Given the description of an element on the screen output the (x, y) to click on. 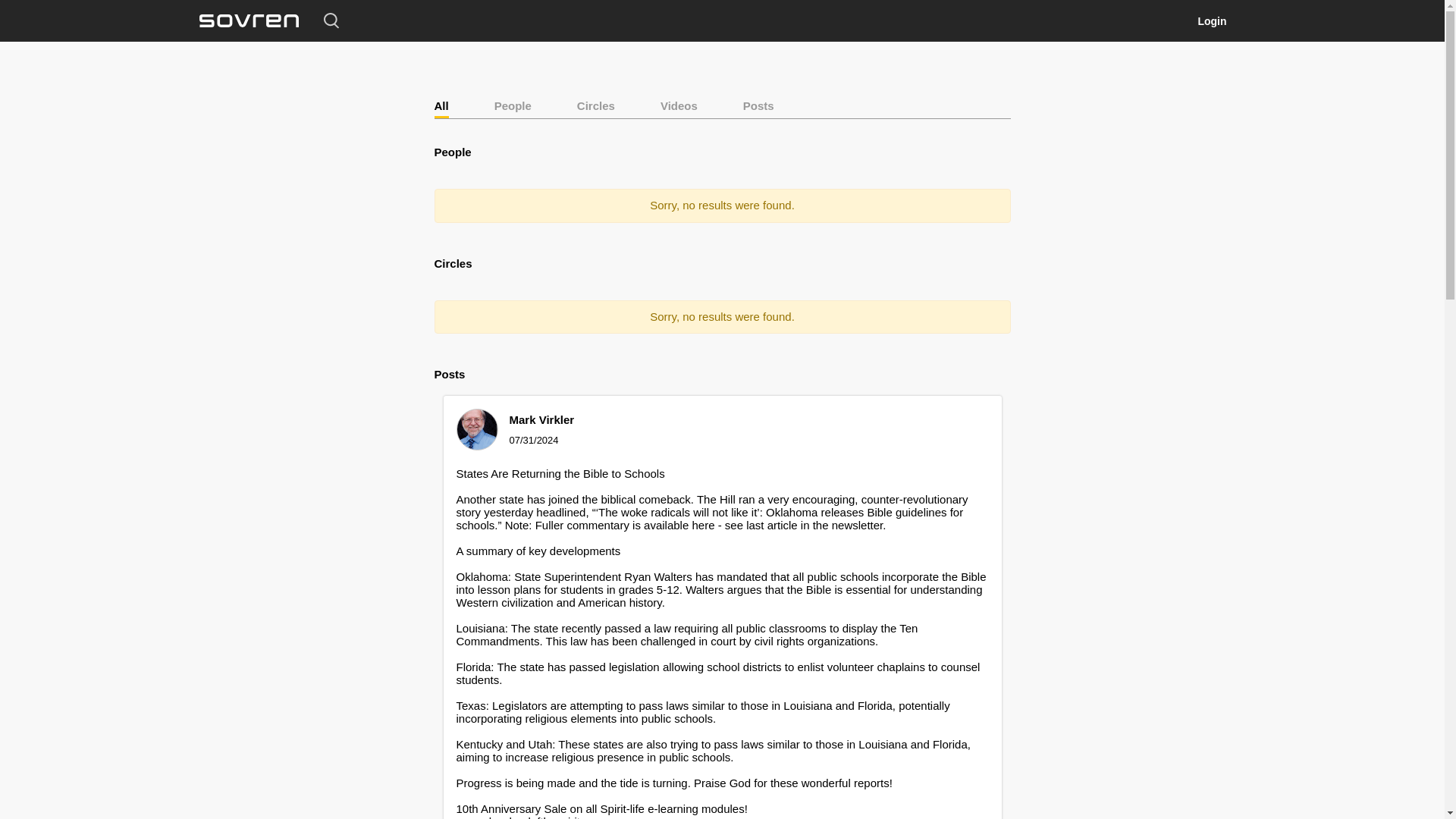
Videos (679, 105)
Circles (595, 105)
Mark Virkler (542, 419)
People (513, 105)
sovren.media (248, 20)
Login (1210, 20)
Posts (758, 105)
All (440, 105)
Login (1210, 20)
